Given the description of an element on the screen output the (x, y) to click on. 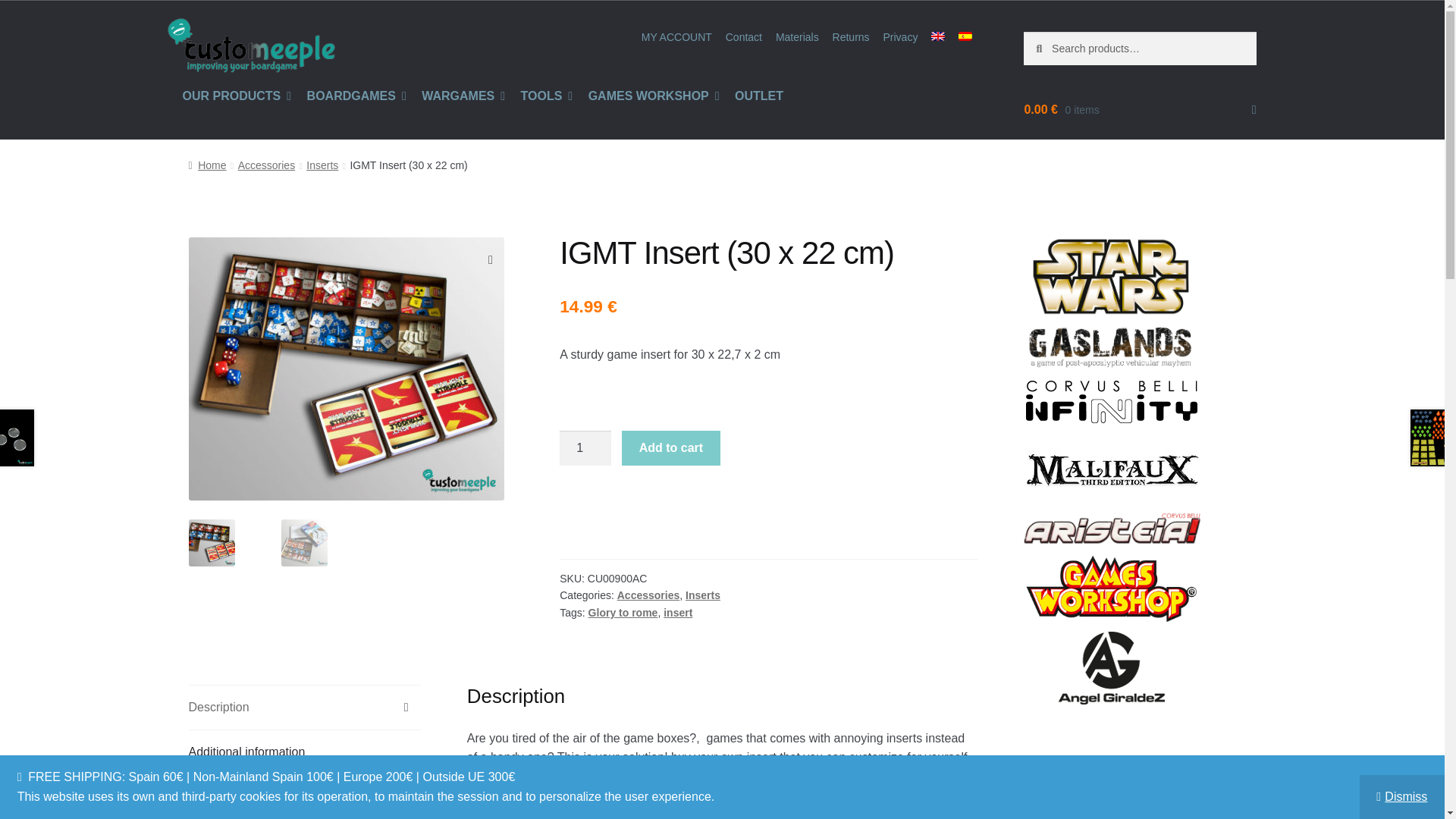
View your shopping cart (1139, 109)
TS2 (345, 368)
1 (585, 448)
infinity (1111, 400)
Contact (743, 36)
aristeia (1111, 528)
Returns (851, 36)
Materials (797, 36)
GamesWorkshop (1111, 587)
Giraldez (1111, 667)
OUR PRODUCTS (236, 96)
PayPal Message 1 (767, 504)
starwars (1110, 276)
